Given the description of an element on the screen output the (x, y) to click on. 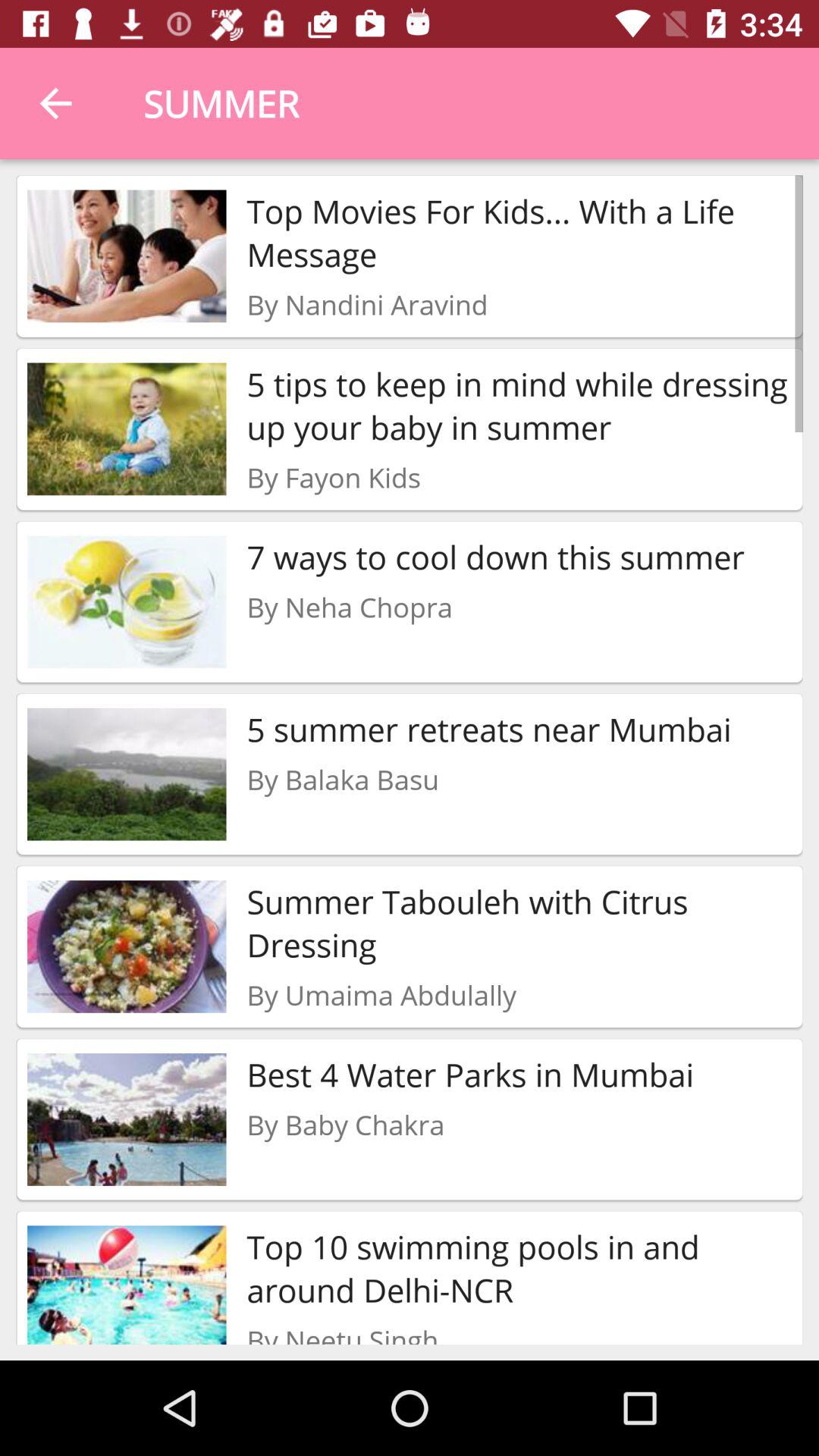
select the item below the by nandini aravind icon (519, 405)
